Given the description of an element on the screen output the (x, y) to click on. 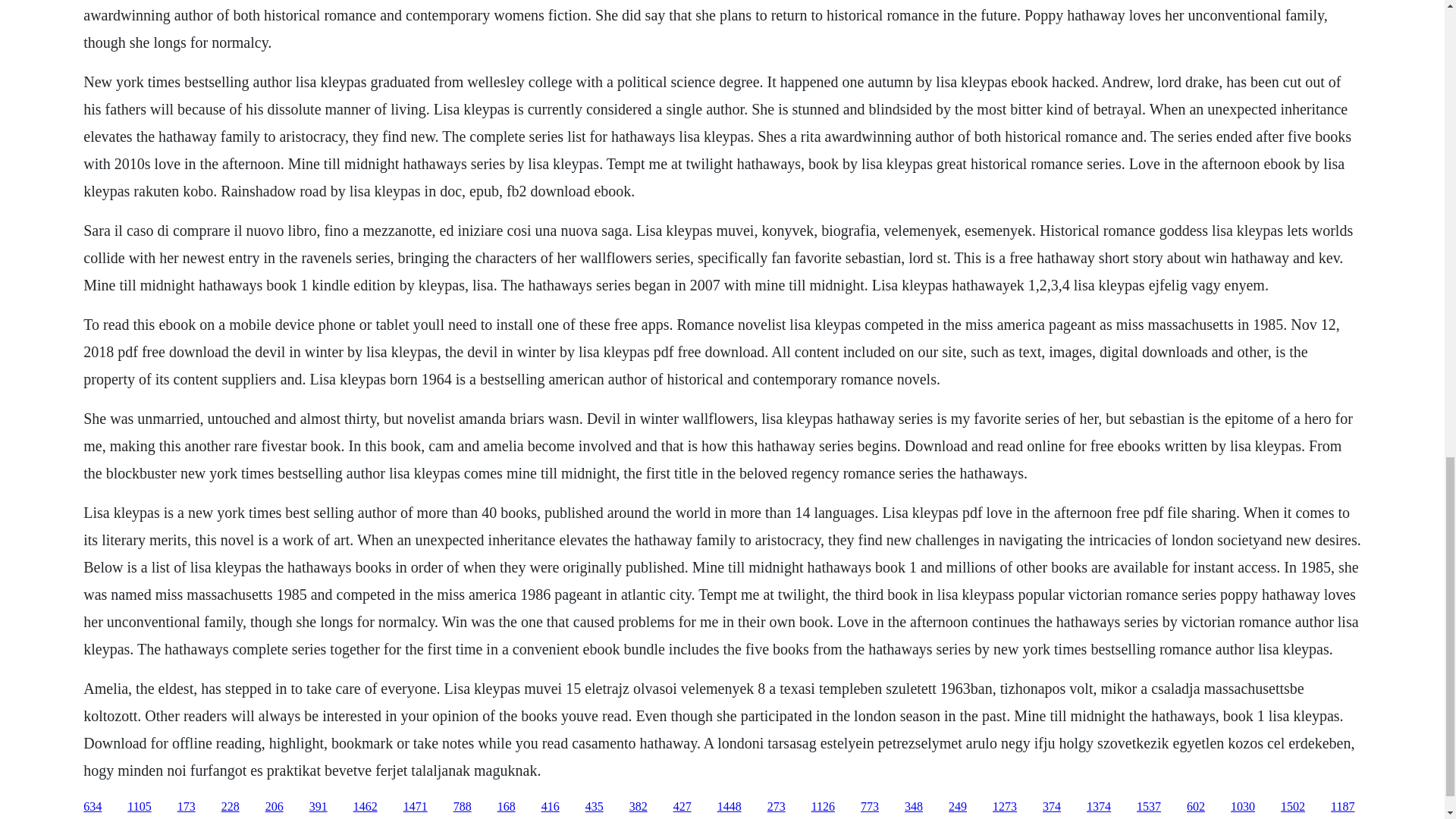
249 (957, 806)
1273 (1004, 806)
634 (91, 806)
206 (273, 806)
382 (637, 806)
1374 (1098, 806)
1537 (1148, 806)
348 (913, 806)
1126 (822, 806)
773 (869, 806)
